Given the description of an element on the screen output the (x, y) to click on. 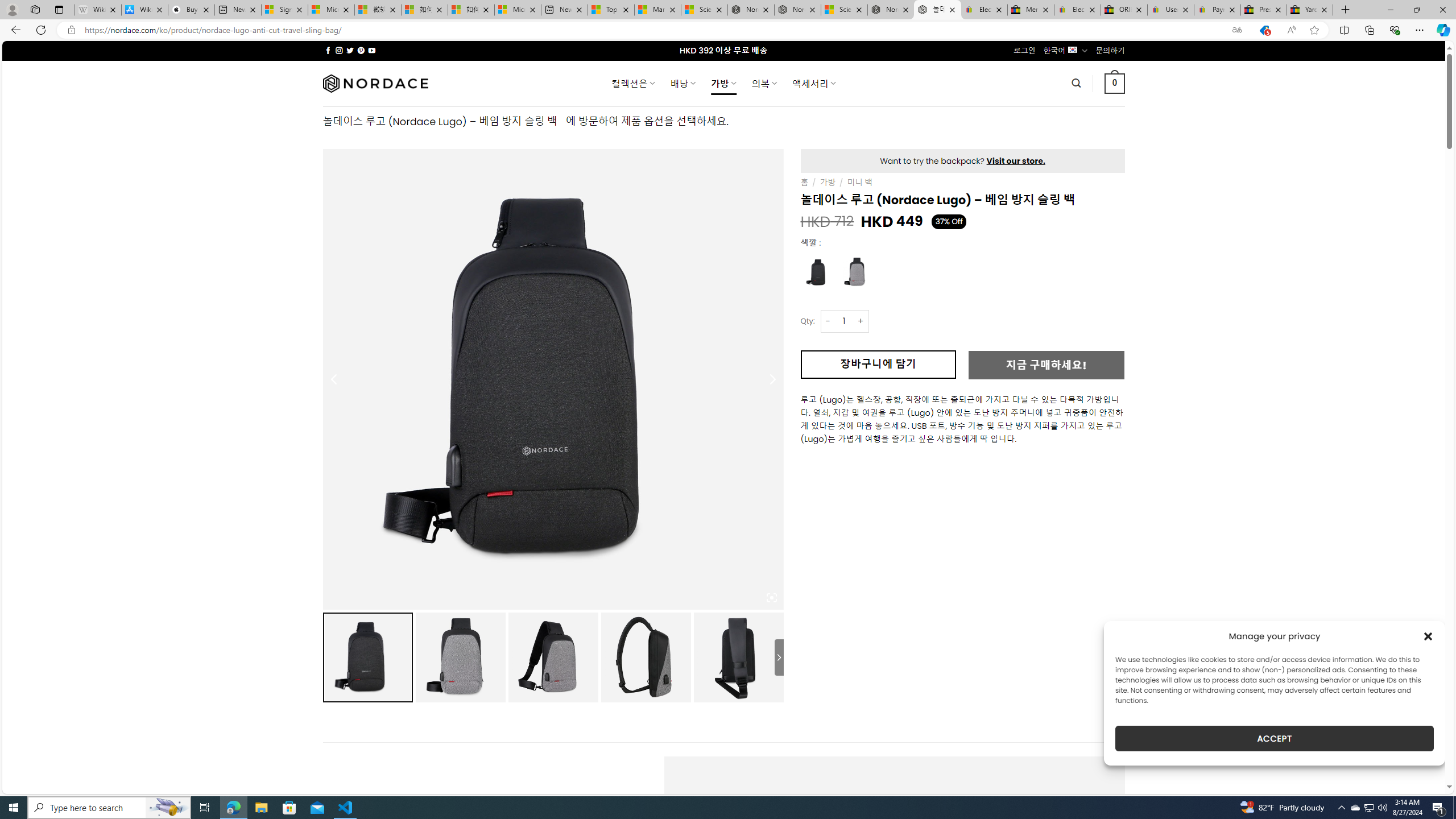
Payments Terms of Use | eBay.com (1216, 9)
User Privacy Notice | eBay (1170, 9)
Buy iPad - Apple (191, 9)
Visit our store. (1015, 161)
Top Stories - MSN (610, 9)
